Given the description of an element on the screen output the (x, y) to click on. 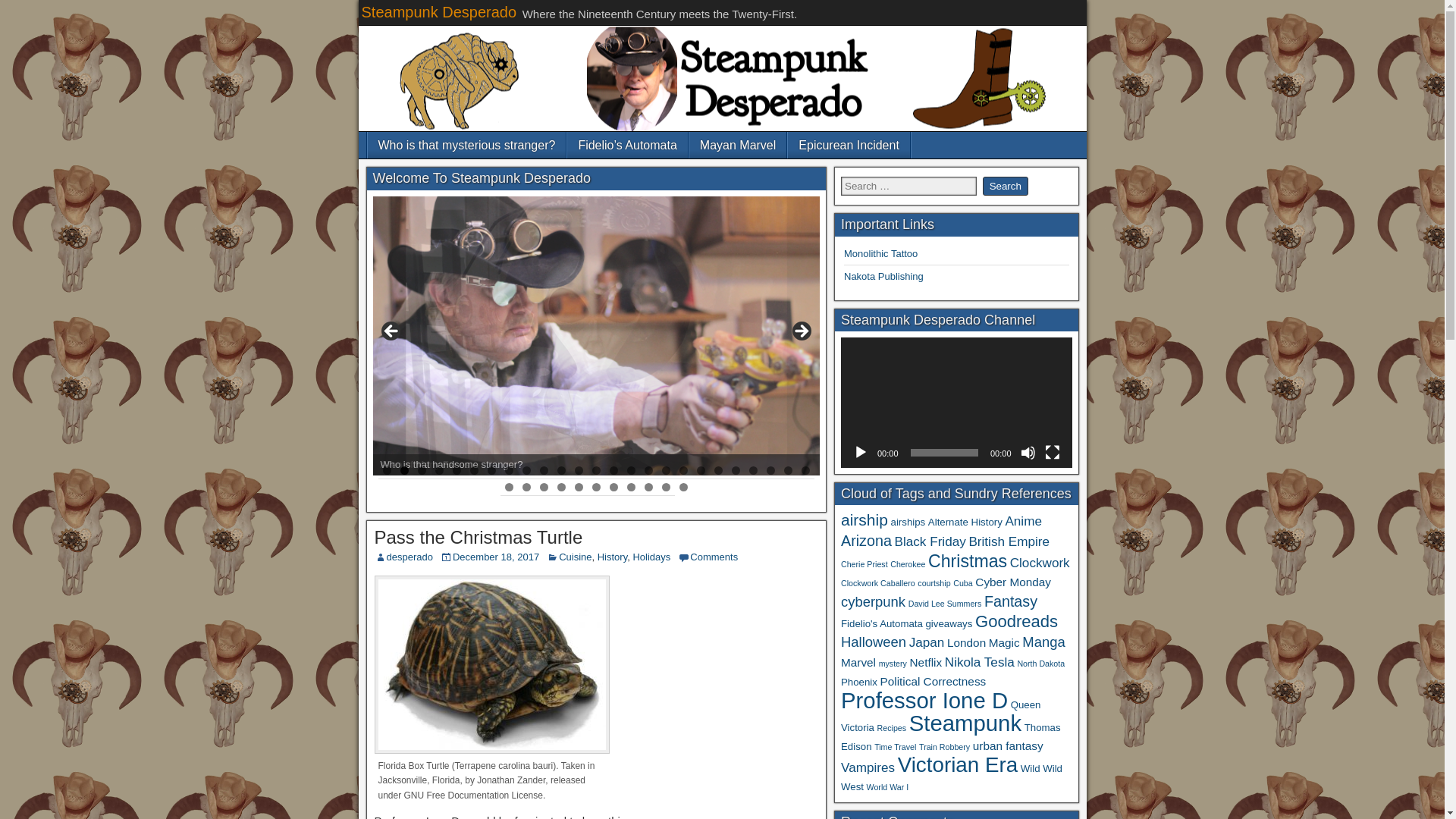
20 (718, 470)
9 (526, 470)
5 (456, 470)
18 (683, 470)
30 (579, 487)
12 (579, 470)
15 (630, 470)
Who is that mysterious stranger? (466, 144)
10 (544, 470)
Search (1004, 185)
